Given the description of an element on the screen output the (x, y) to click on. 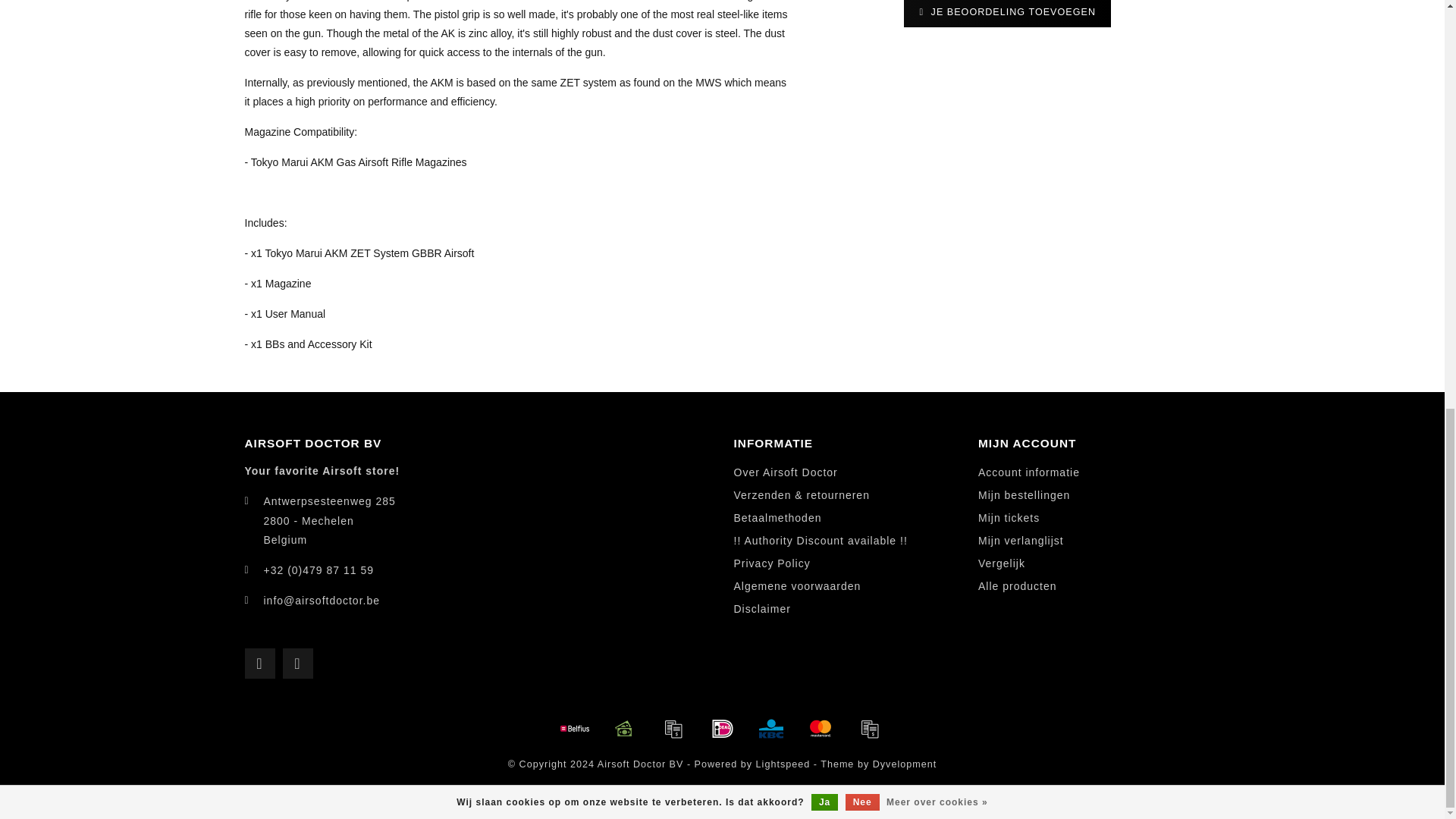
Account informatie (1029, 472)
Je beoordeling toevoegen (1007, 13)
Algemene voorwaarden (797, 586)
Over Airsoft Doctor  (785, 472)
Privacy Policy (771, 563)
!! Authority Discount available !!  (820, 540)
Betaalmethoden (777, 517)
Disclaimer (761, 609)
